Given the description of an element on the screen output the (x, y) to click on. 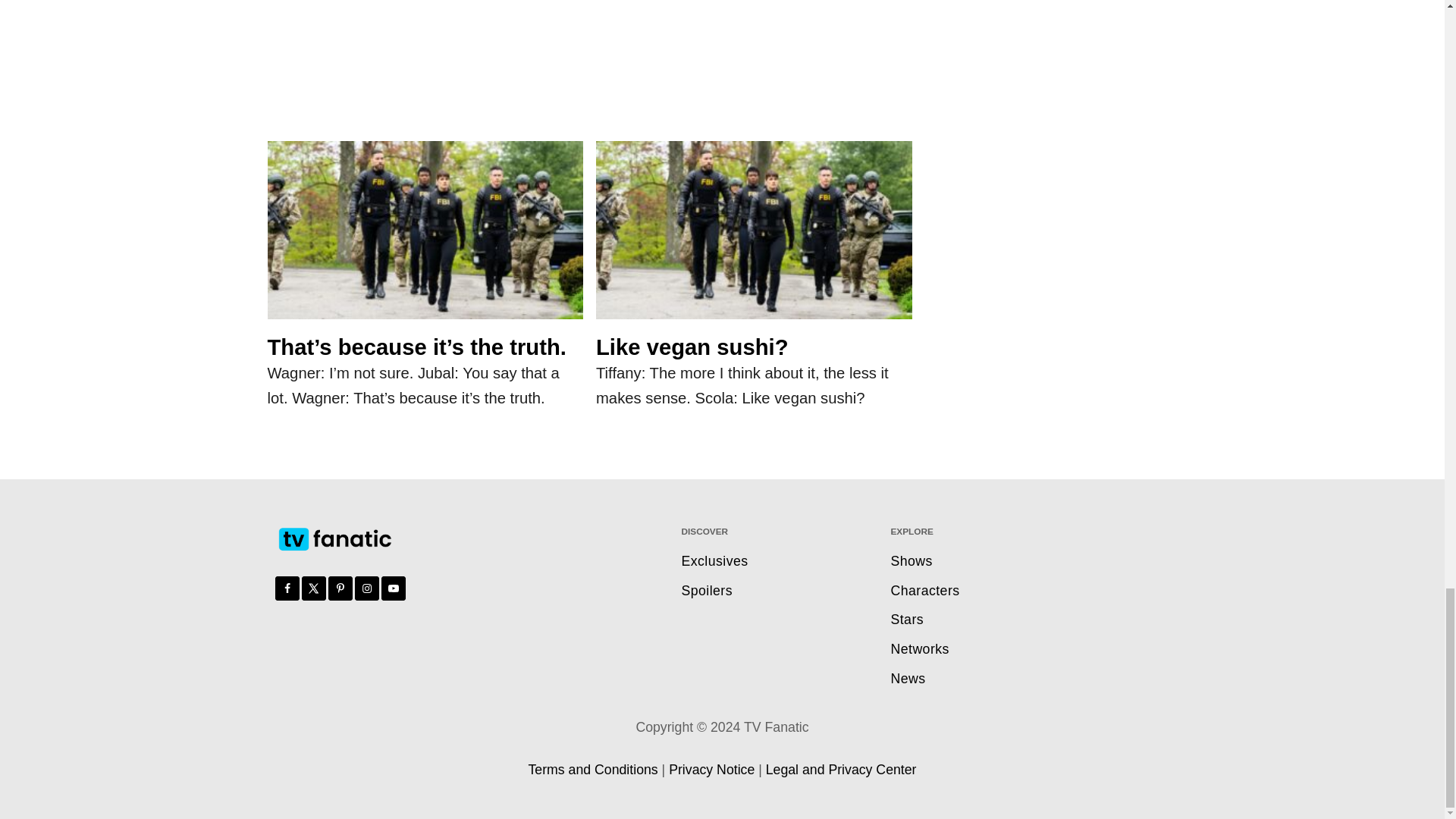
Follow on X (313, 588)
Follow on Facebook (286, 588)
Like vegan sushi? (753, 237)
Follow on Pinterest (340, 588)
